Given the description of an element on the screen output the (x, y) to click on. 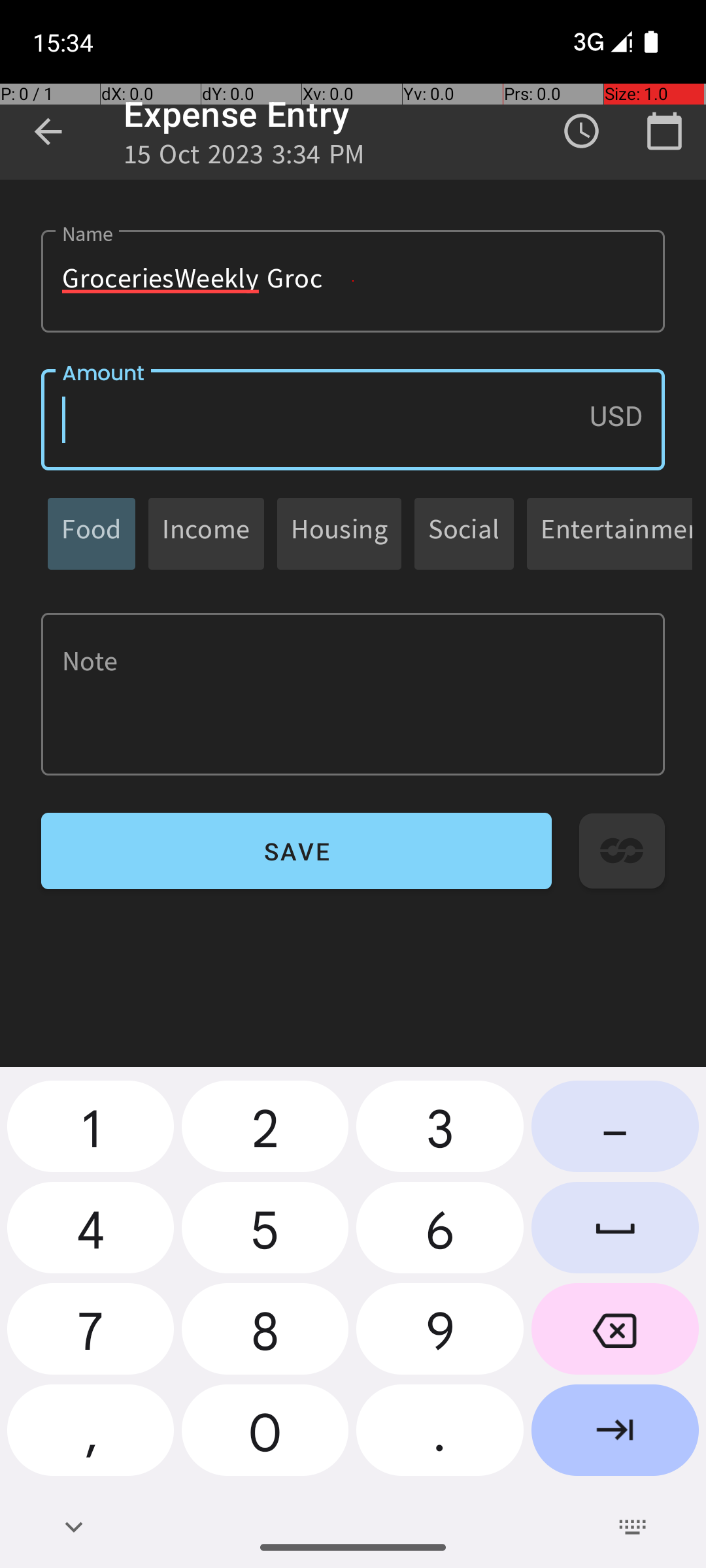
GroceriesWeekly Groc Element type: android.widget.EditText (352, 280)
Dash Element type: android.widget.FrameLayout (614, 1130)
